Given the description of an element on the screen output the (x, y) to click on. 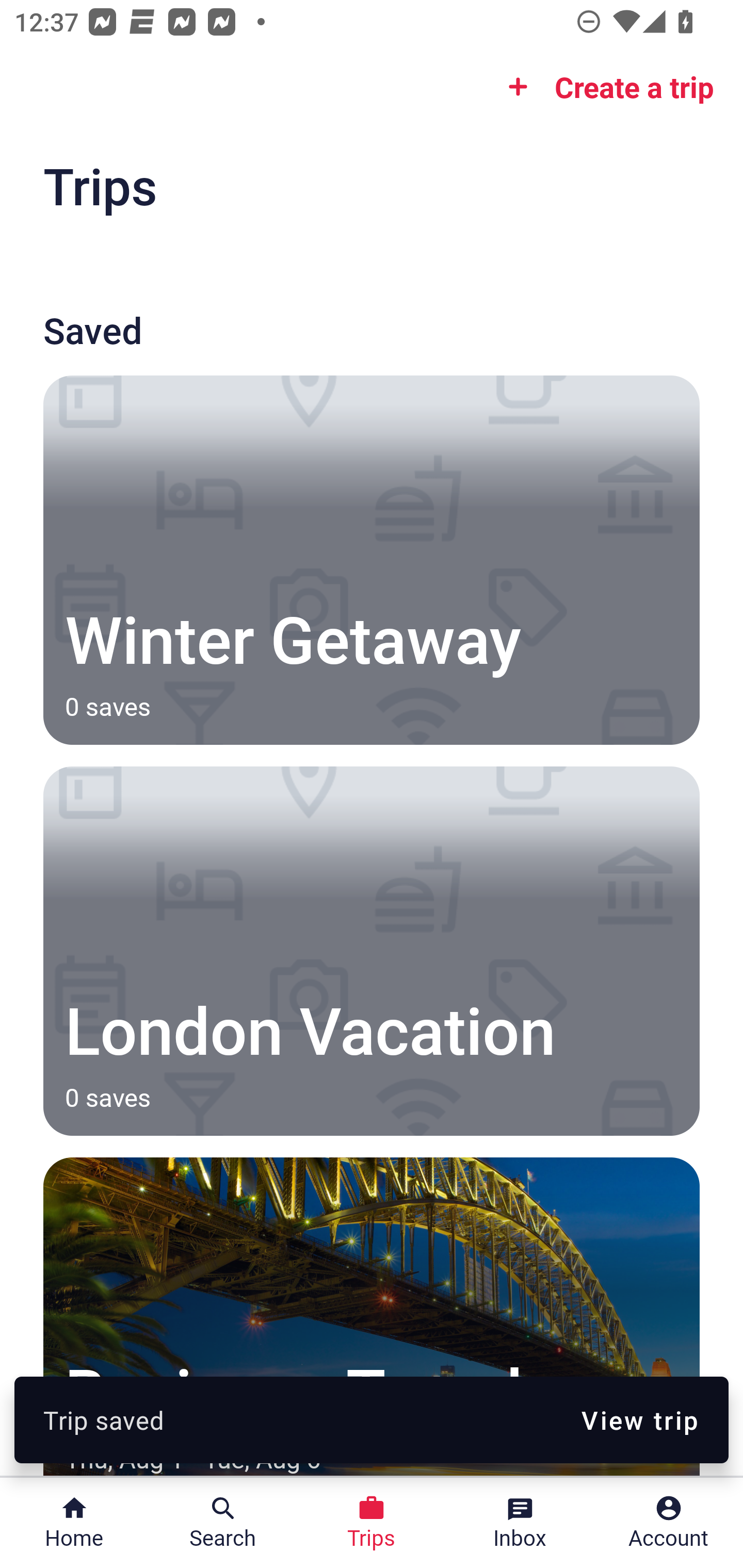
Create a trip Create a trip Button (605, 86)
View trip (640, 1419)
Home Home Button (74, 1522)
Search Search Button (222, 1522)
Inbox Inbox Button (519, 1522)
Account Profile. Button (668, 1522)
